Given the description of an element on the screen output the (x, y) to click on. 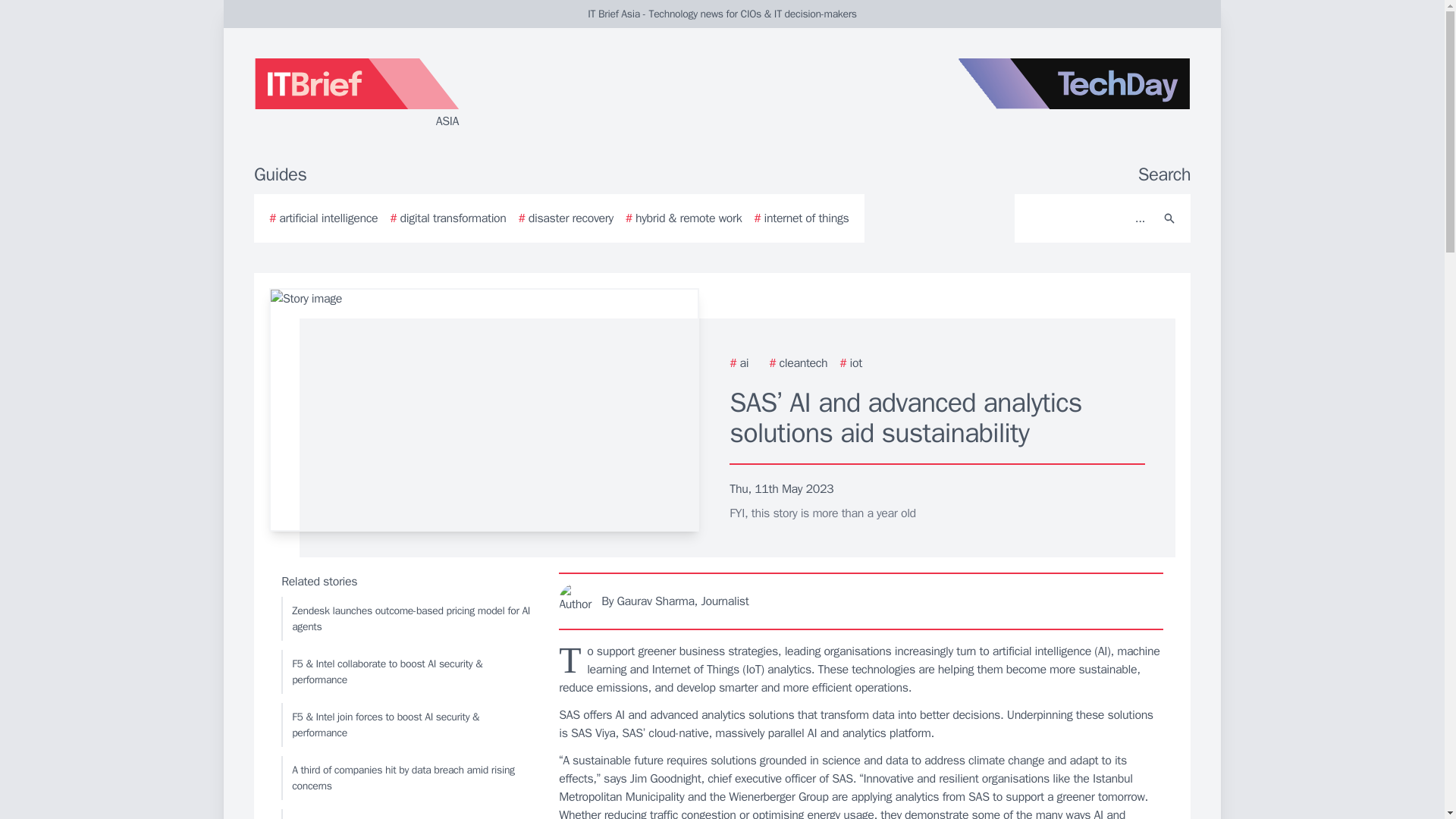
Zendesk launches outcome-based pricing model for AI agents (406, 618)
Balancing human talent and AI remains key challenge (406, 814)
By Gaurav Sharma, Journalist (861, 601)
ASIA (435, 94)
A third of companies hit by data breach amid rising concerns (406, 777)
